Given the description of an element on the screen output the (x, y) to click on. 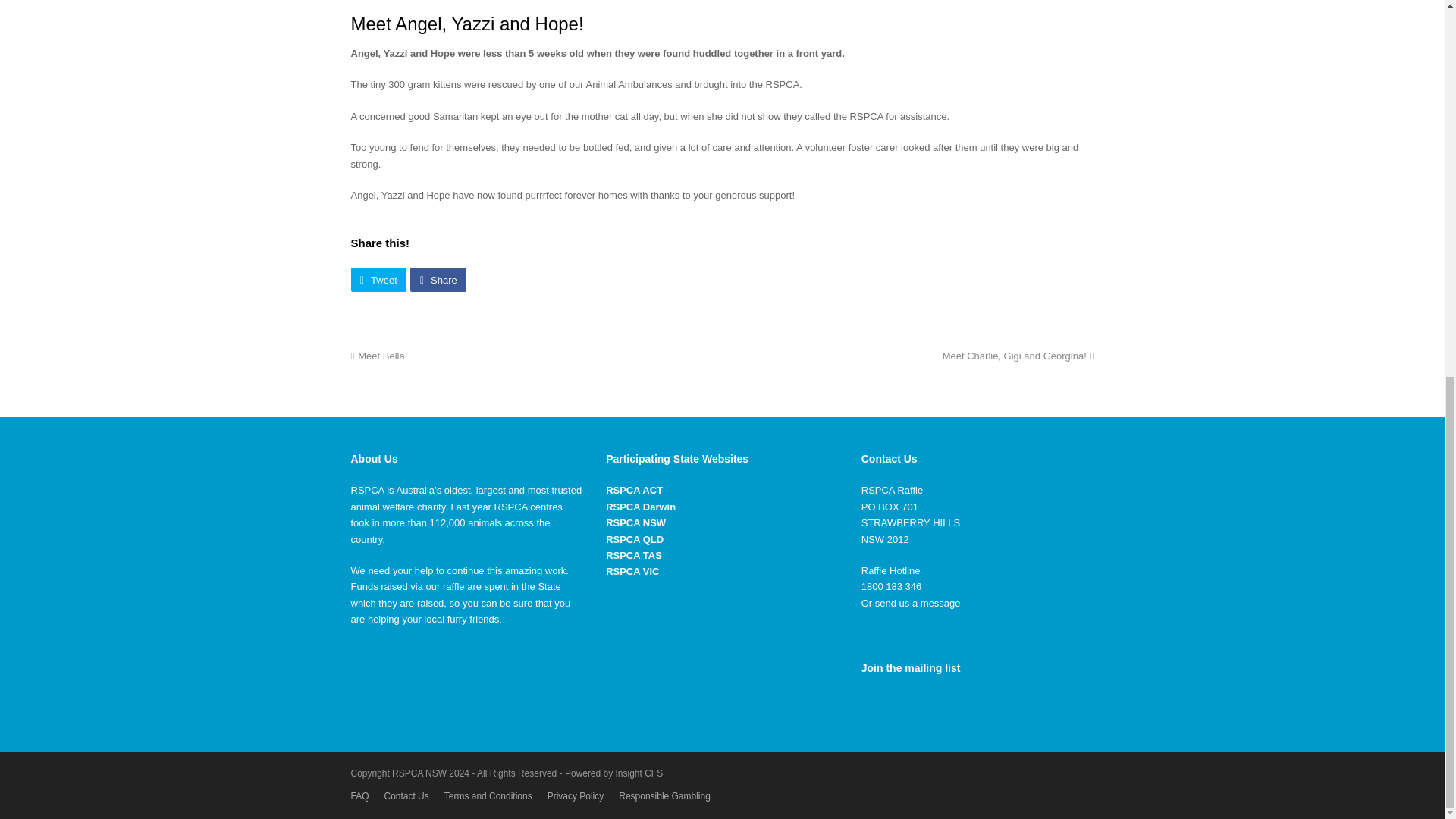
Share on Twitter (378, 279)
Share on Facebook (437, 279)
RSPCA NSW (635, 522)
Contact Us (406, 796)
FAQ (359, 796)
send us a message (917, 603)
RSPCA Darwin (640, 506)
Terms and Conditions (488, 796)
Tweet (378, 355)
RSPCA QLD (378, 279)
RSPCA ACT (634, 539)
RSPCA VIC (633, 490)
Share (632, 571)
Privacy Policy (437, 279)
